Given the description of an element on the screen output the (x, y) to click on. 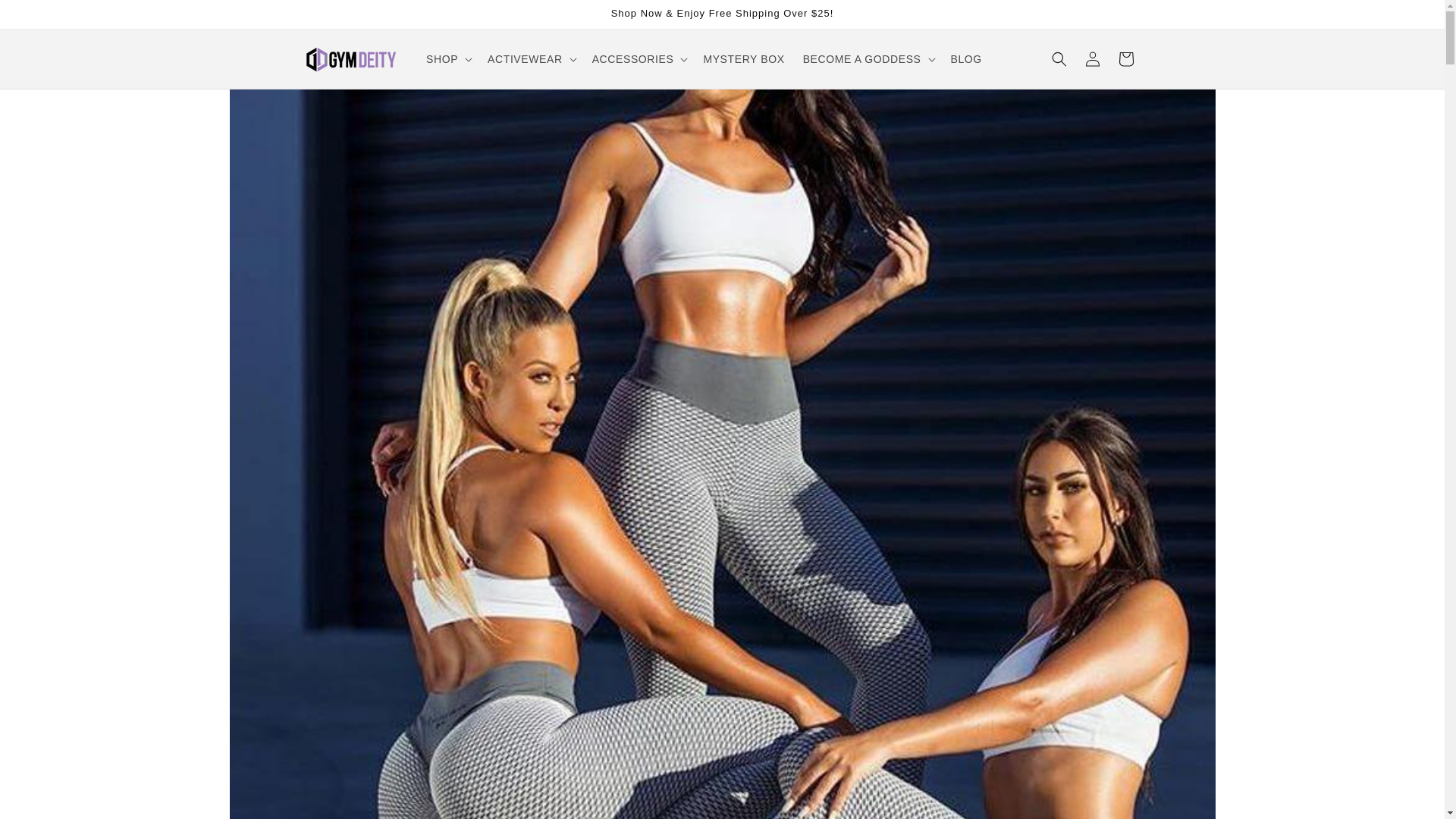
Skip to content (45, 17)
